Given the description of an element on the screen output the (x, y) to click on. 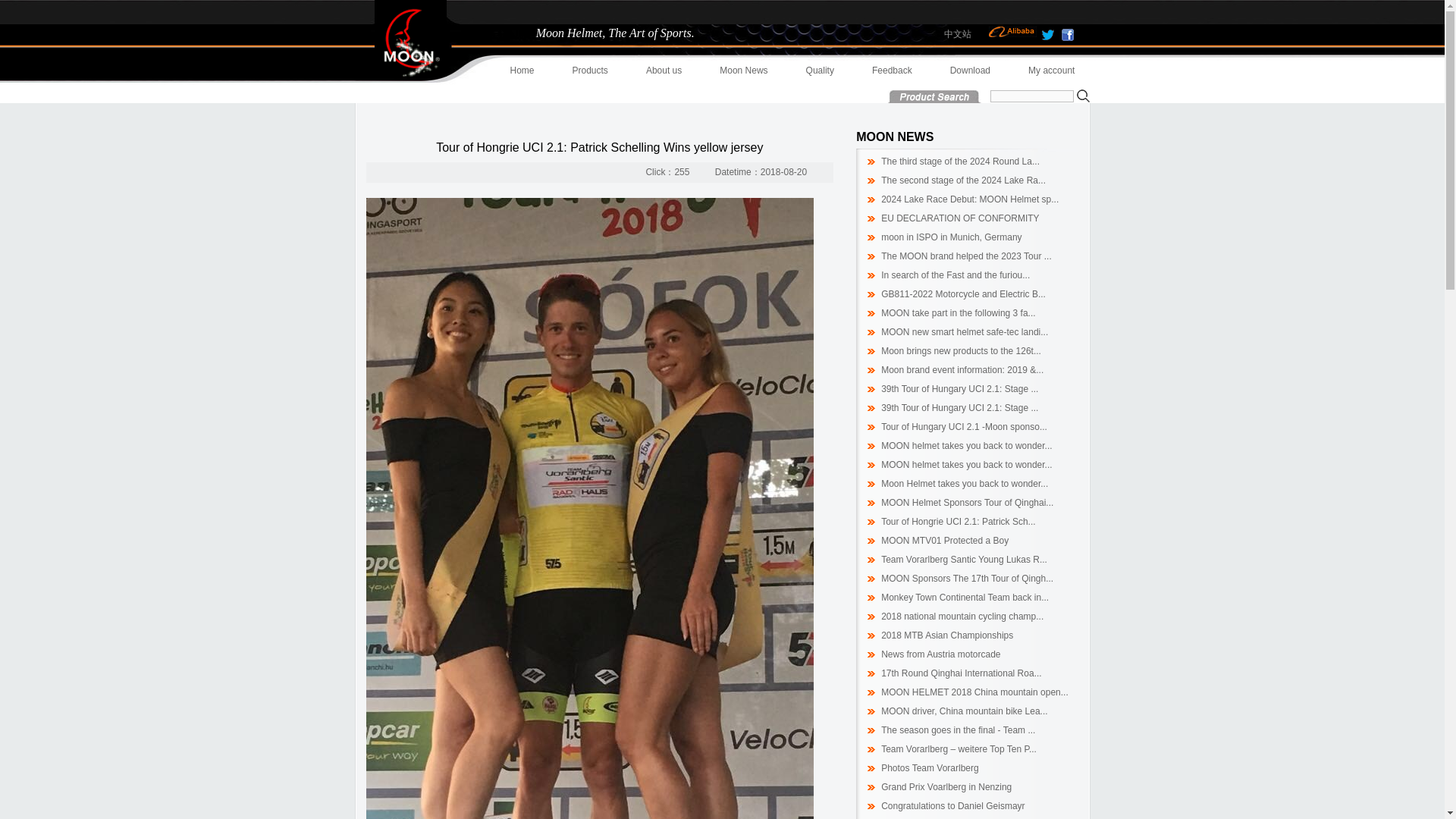
Moon News (743, 70)
2024 Lake Race Debut: MOON Helmet sp... (969, 199)
Moon brings new products to the 126t... (960, 350)
GB811-2022 Motorcycle and Electric B... (962, 294)
MOON new smart helmet safe-tec landi... (964, 331)
EU DECLARATION OF CONFORMITY (959, 217)
moon in ISPO in Munich, Germany (951, 236)
39th Tour of Hungary UCI 2.1: Stage ... (959, 407)
MOON take part in the following 3 fa... (957, 312)
About us (663, 70)
